Given the description of an element on the screen output the (x, y) to click on. 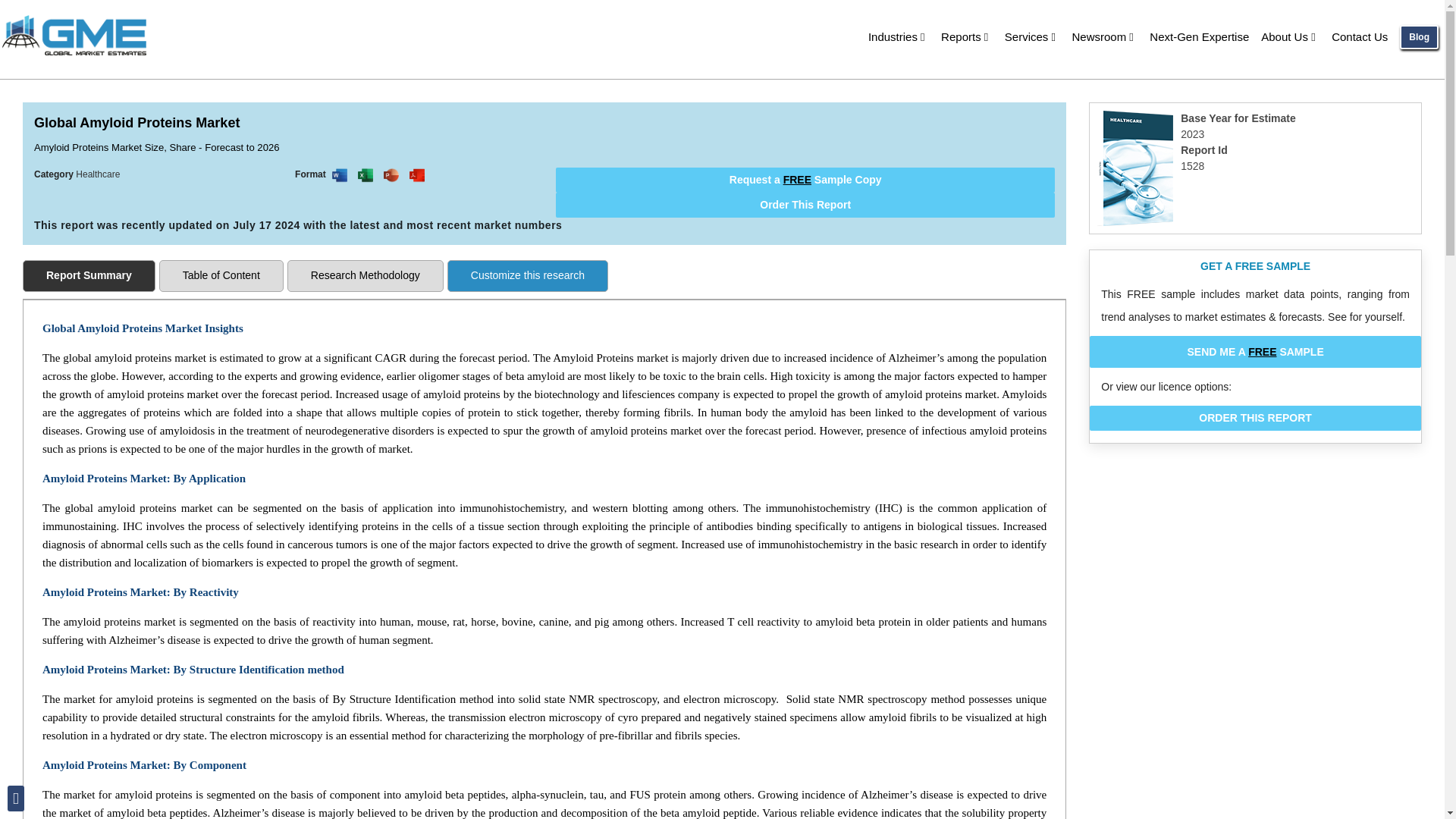
This report is available in EXCEL SHEET format (365, 174)
Industries (897, 37)
This report is available as WORD DOCUMENT (339, 174)
This report is available in PPT format (391, 174)
This report is available in PDF format (417, 174)
